Given the description of an element on the screen output the (x, y) to click on. 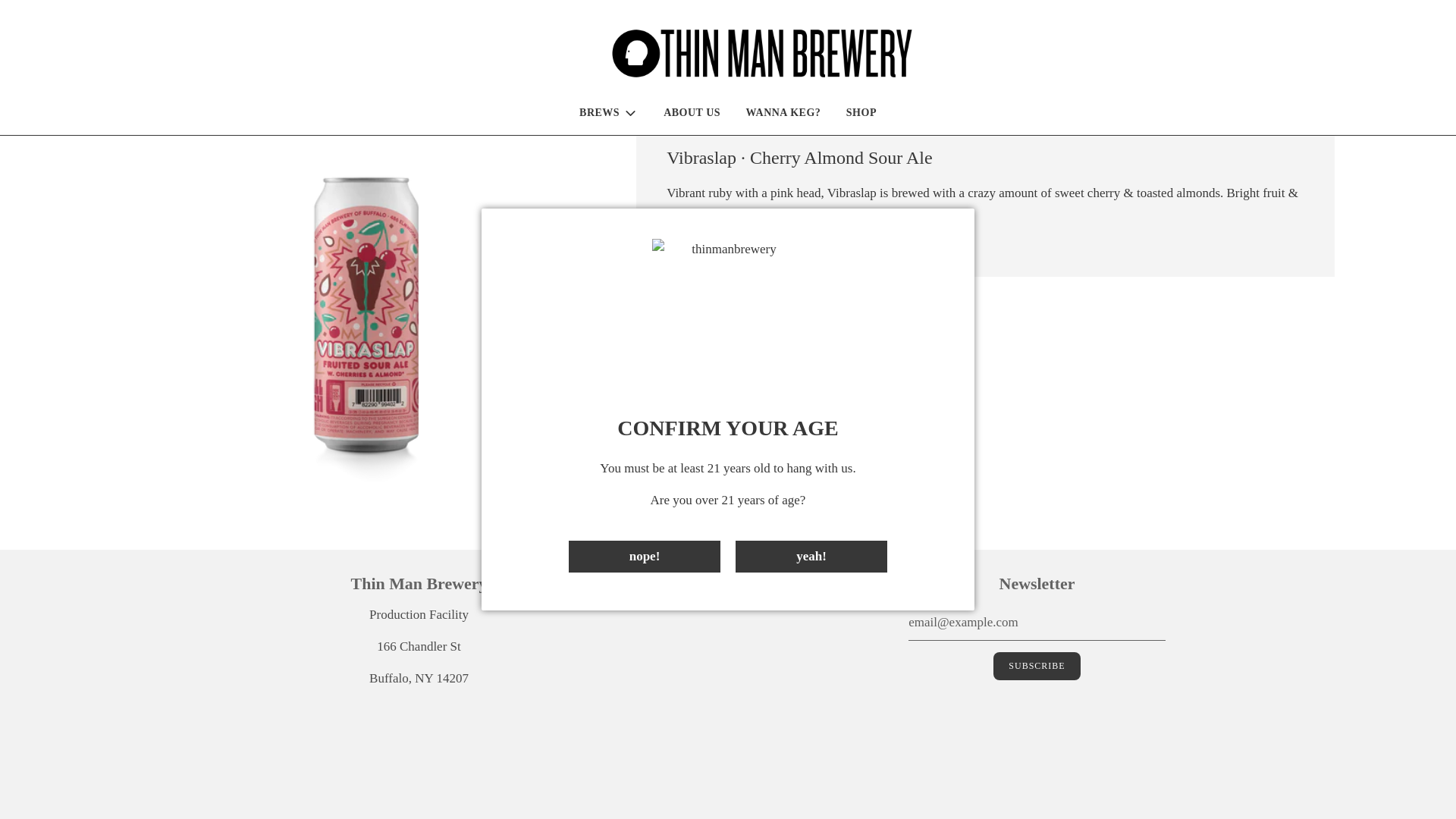
yeah! (810, 498)
BREWS (608, 55)
Home (134, 96)
WANNA KEG? (783, 55)
ABOUT US (692, 55)
Back to the frontpage (134, 96)
SHOP (861, 55)
Subscribe (1036, 665)
Subscribe (1036, 665)
nope! (644, 498)
